Given the description of an element on the screen output the (x, y) to click on. 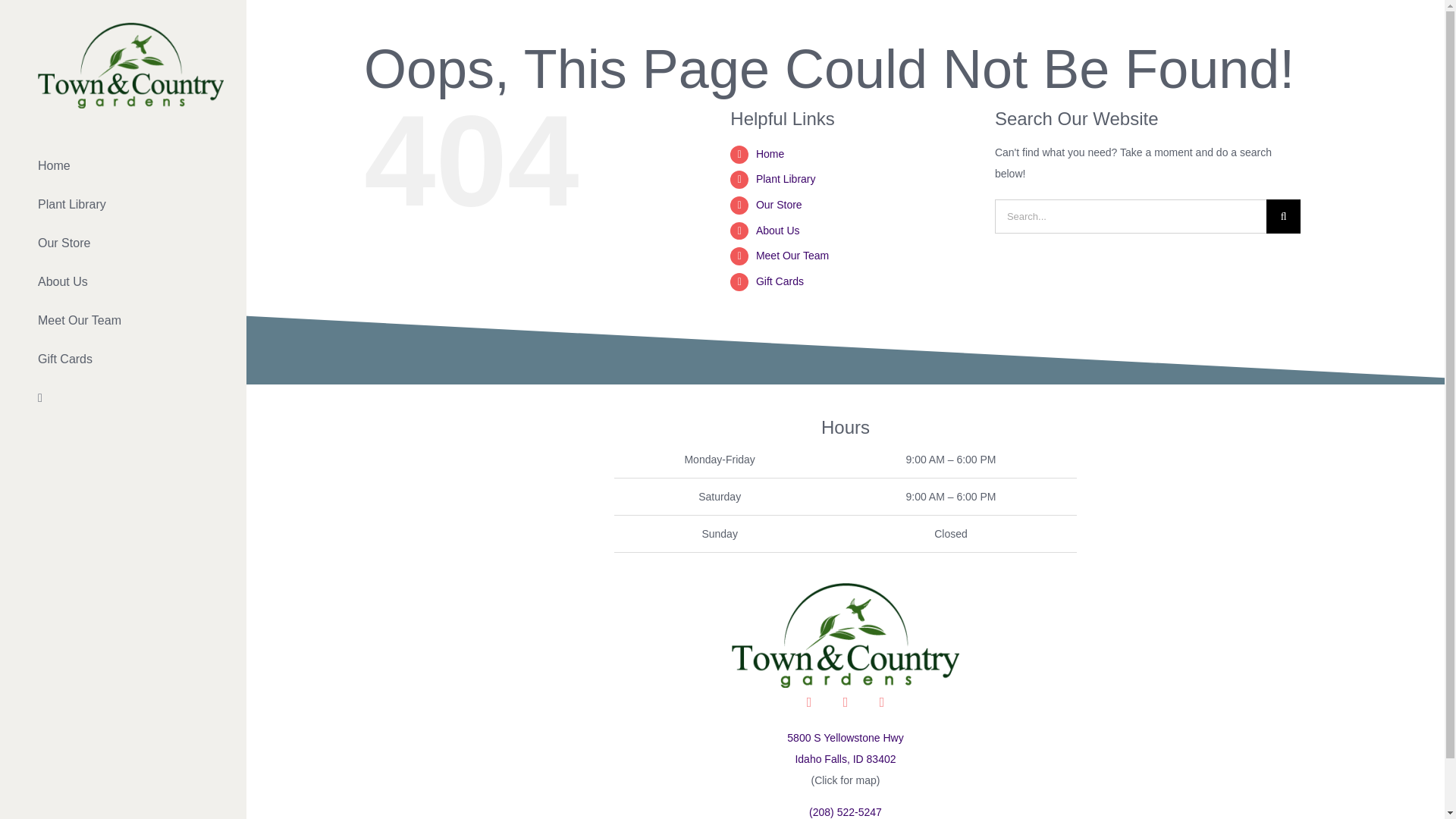
Idaho Falls, ID 83402 (844, 758)
About Us (123, 282)
Plant Library (785, 178)
5800 S Yellowstone Hwy (844, 737)
Instagram (845, 701)
Home (769, 153)
Plant Library (123, 204)
Gift Cards (779, 281)
Our Store (778, 204)
About Us (777, 230)
